Given the description of an element on the screen output the (x, y) to click on. 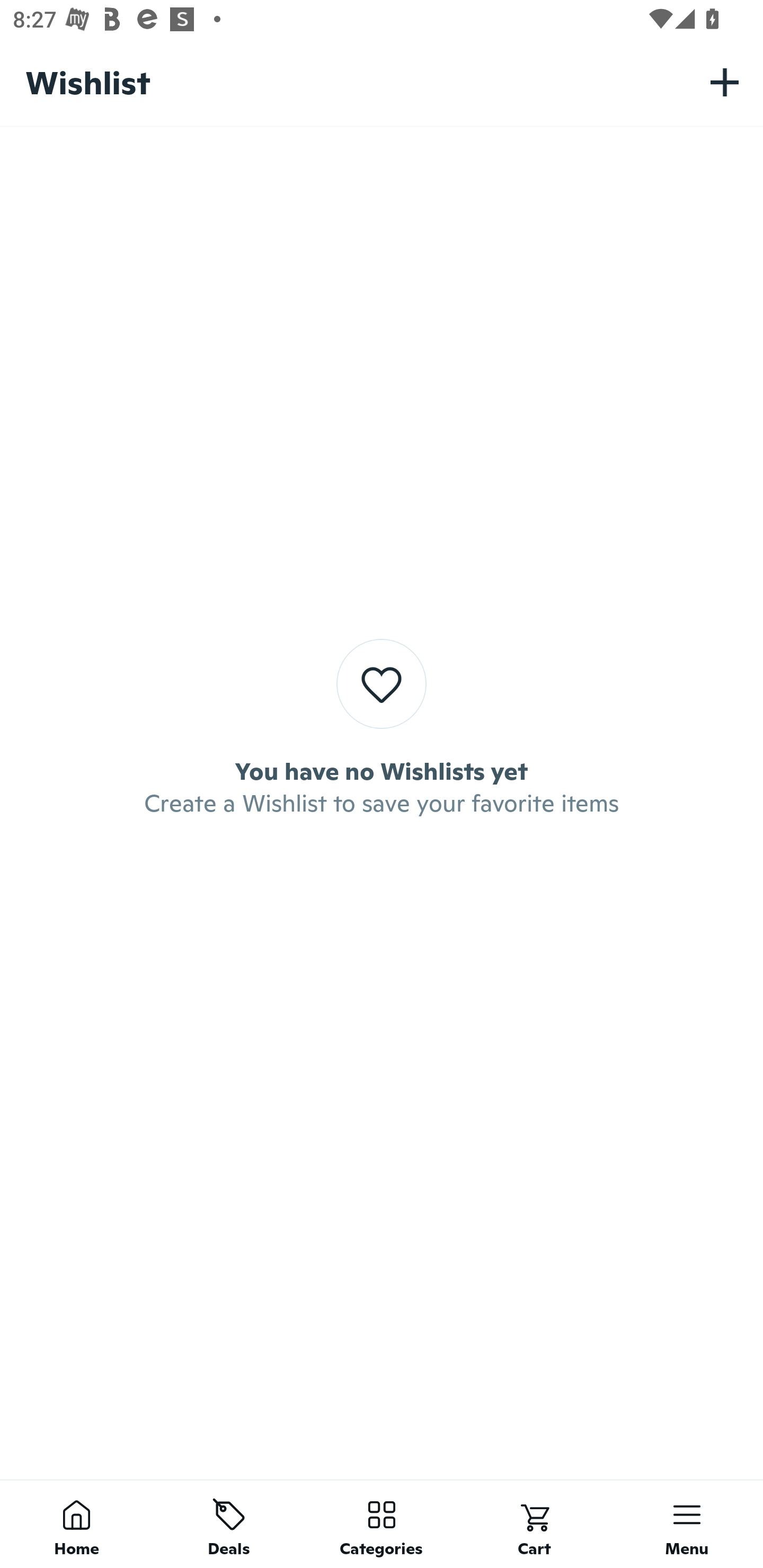
Home (76, 1523)
Deals (228, 1523)
Categories (381, 1523)
Cart (533, 1523)
Menu (686, 1523)
